Given the description of an element on the screen output the (x, y) to click on. 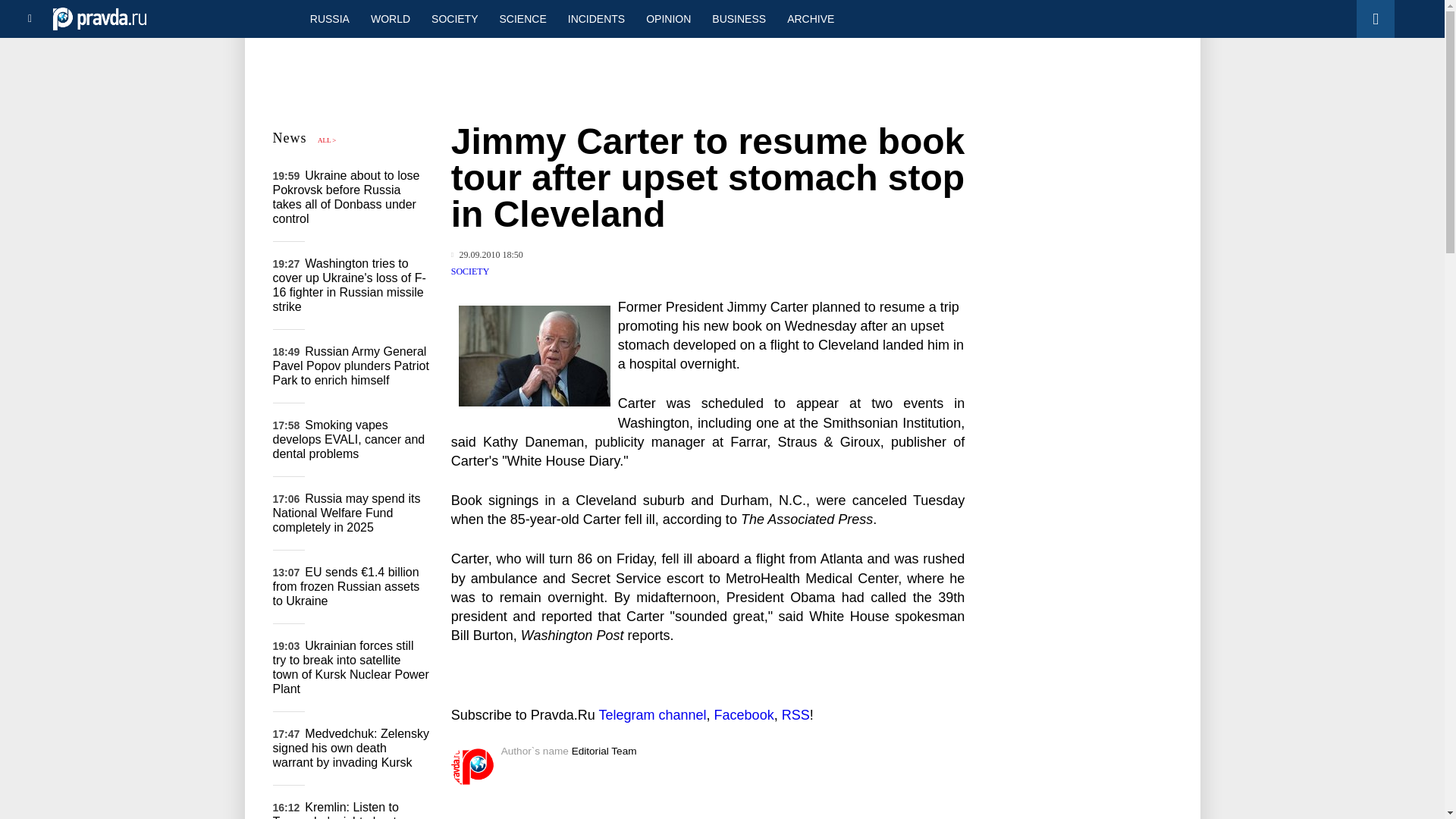
Telegram channel (652, 714)
SOCIETY (453, 18)
RUSSIA (329, 18)
WORLD (389, 18)
Smoking vapes develops EVALI, cancer and dental problems (349, 439)
SCIENCE (523, 18)
OPINION (667, 18)
ARCHIVE (810, 18)
